Given the description of an element on the screen output the (x, y) to click on. 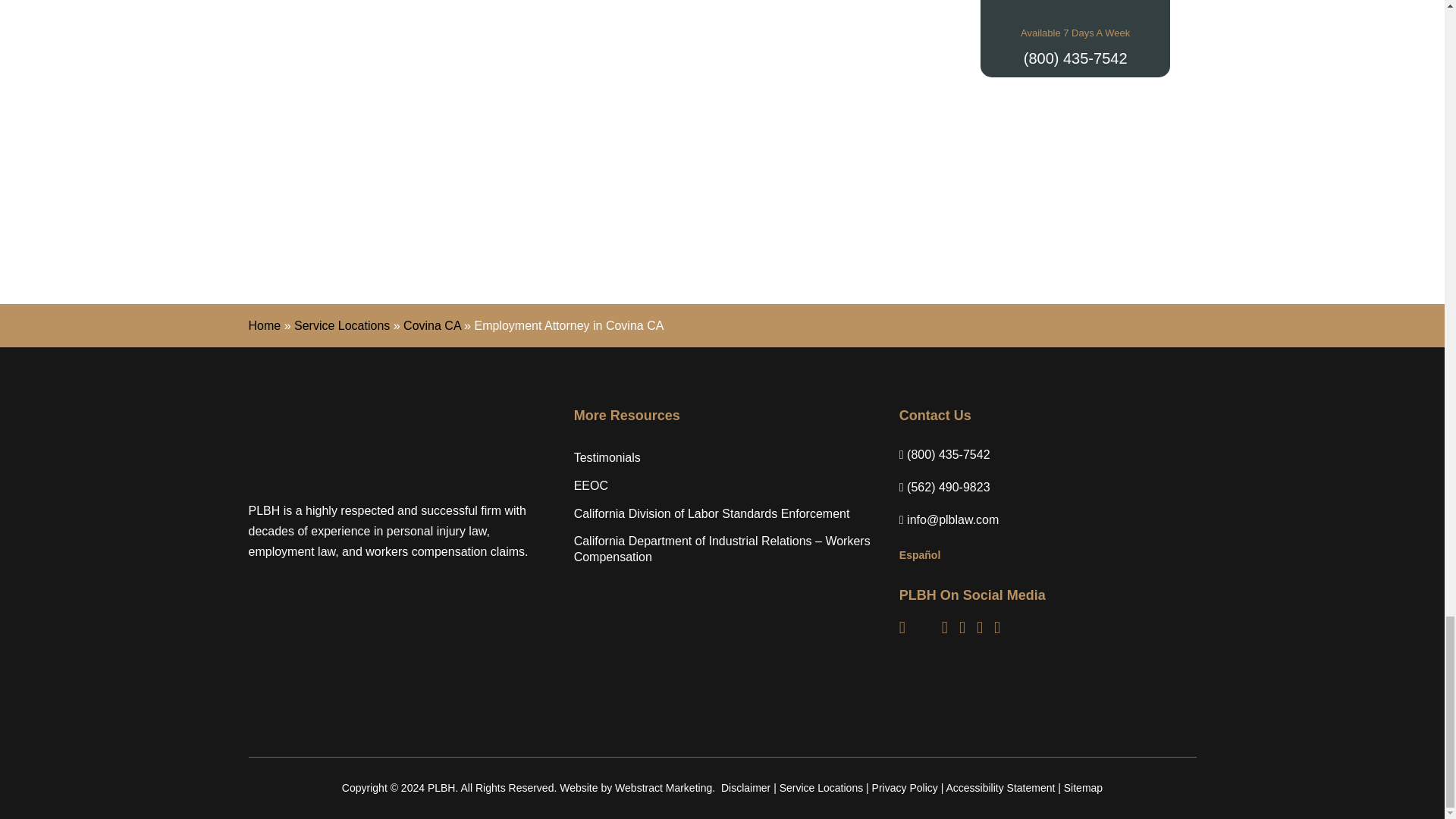
View the profile of Southern California Workers'  (916, 185)
Top 10 Jury Verdicts All Practice Area Todd H. Harrison (331, 185)
Email (952, 519)
Top 10 Jury Verdicts All Practice Area PLBH (526, 185)
Website Design Los Angeles CA (662, 787)
PLBH (343, 442)
This Firm is Lead Counsel Verified. (1112, 185)
